Given the description of an element on the screen output the (x, y) to click on. 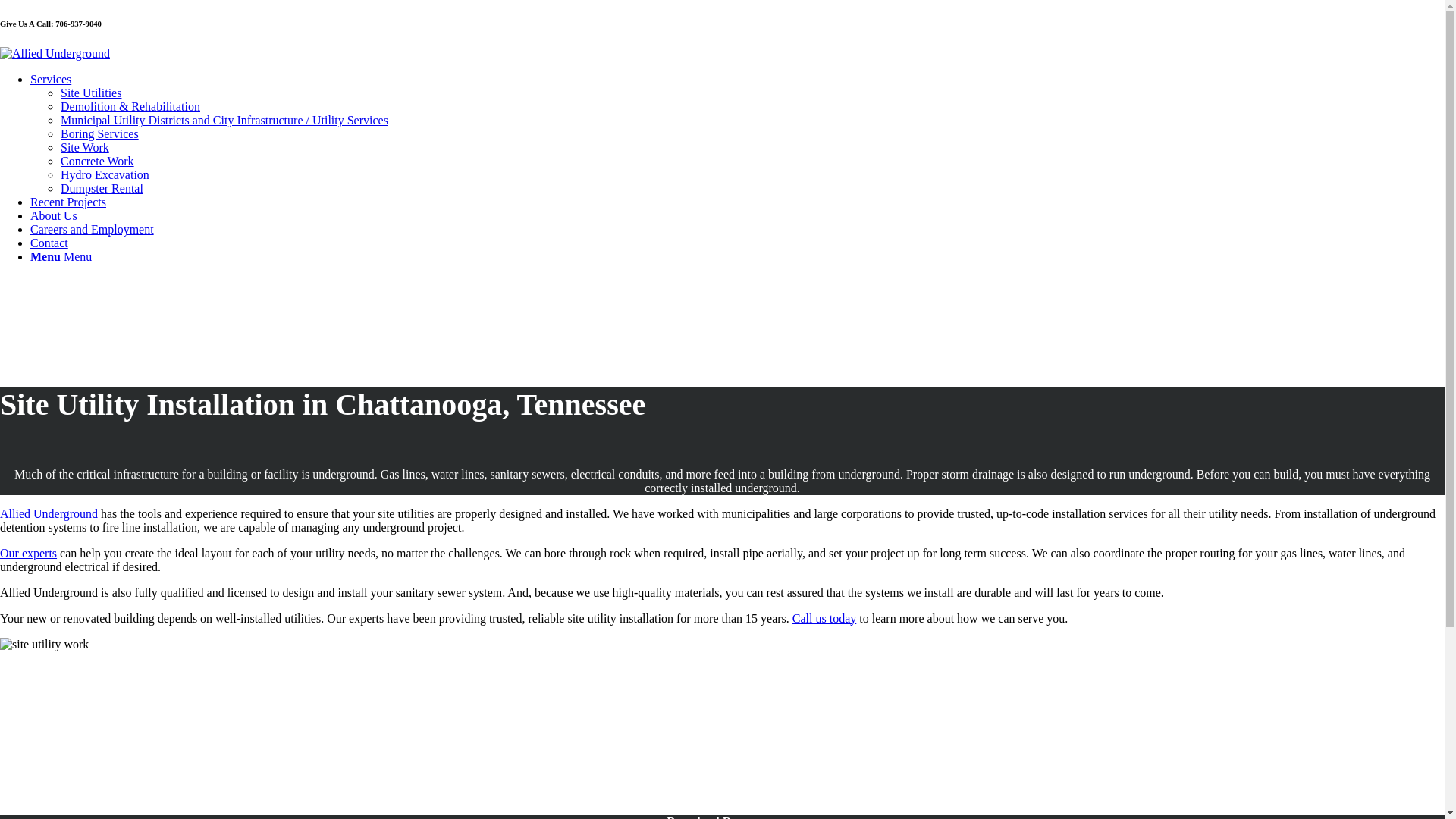
Chattanooga and Southeast Area Site Work (85, 146)
Chattanooga and Southeast Area Site Utilities Service (90, 92)
Menu Menu (60, 256)
Recent Projects (68, 201)
Chattanooga and Southeast Area  Boring Services (99, 133)
Careers at Allied Underground (92, 228)
Chattanooga and Southeast Area Hydro Excavation  (105, 174)
Site Utilities (90, 92)
Site Work (85, 146)
Services (50, 78)
